Given the description of an element on the screen output the (x, y) to click on. 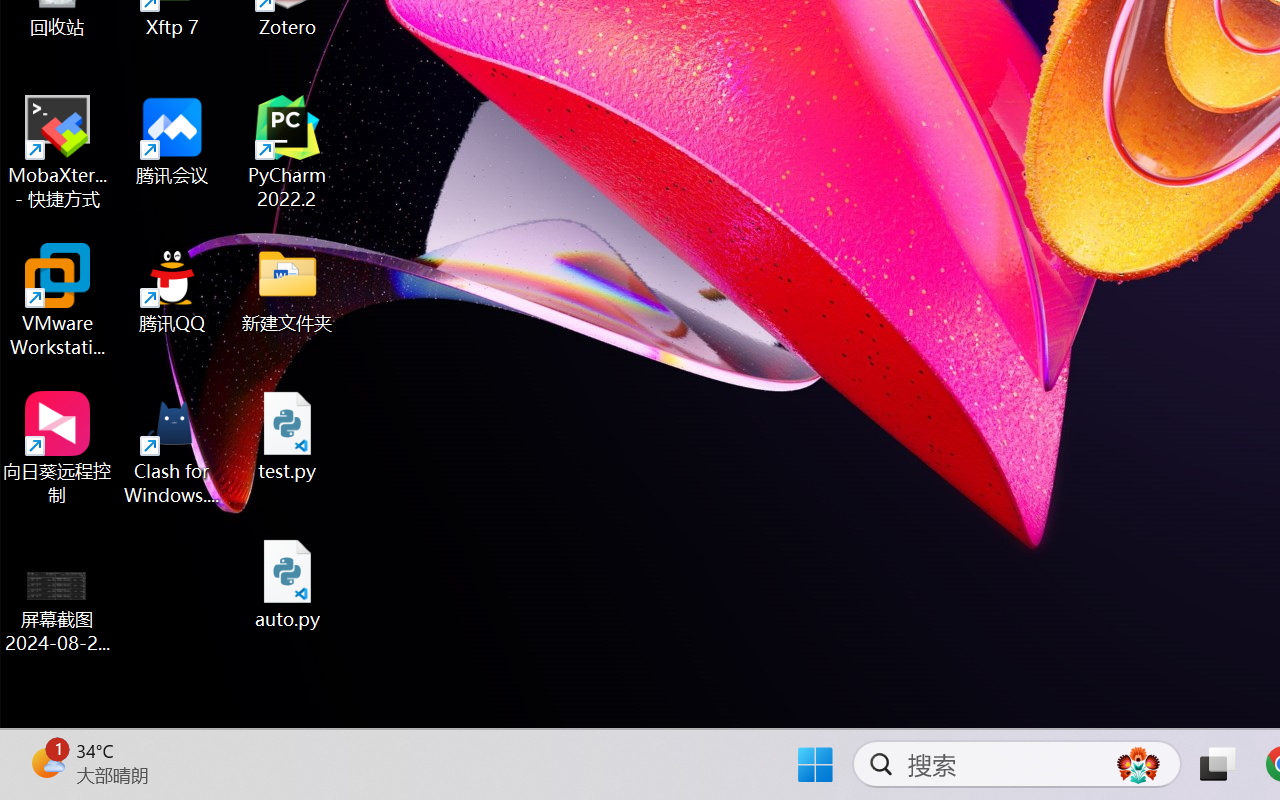
VMware Workstation Pro (57, 300)
auto.py (287, 584)
test.py (287, 436)
PyCharm 2022.2 (287, 152)
